Given the description of an element on the screen output the (x, y) to click on. 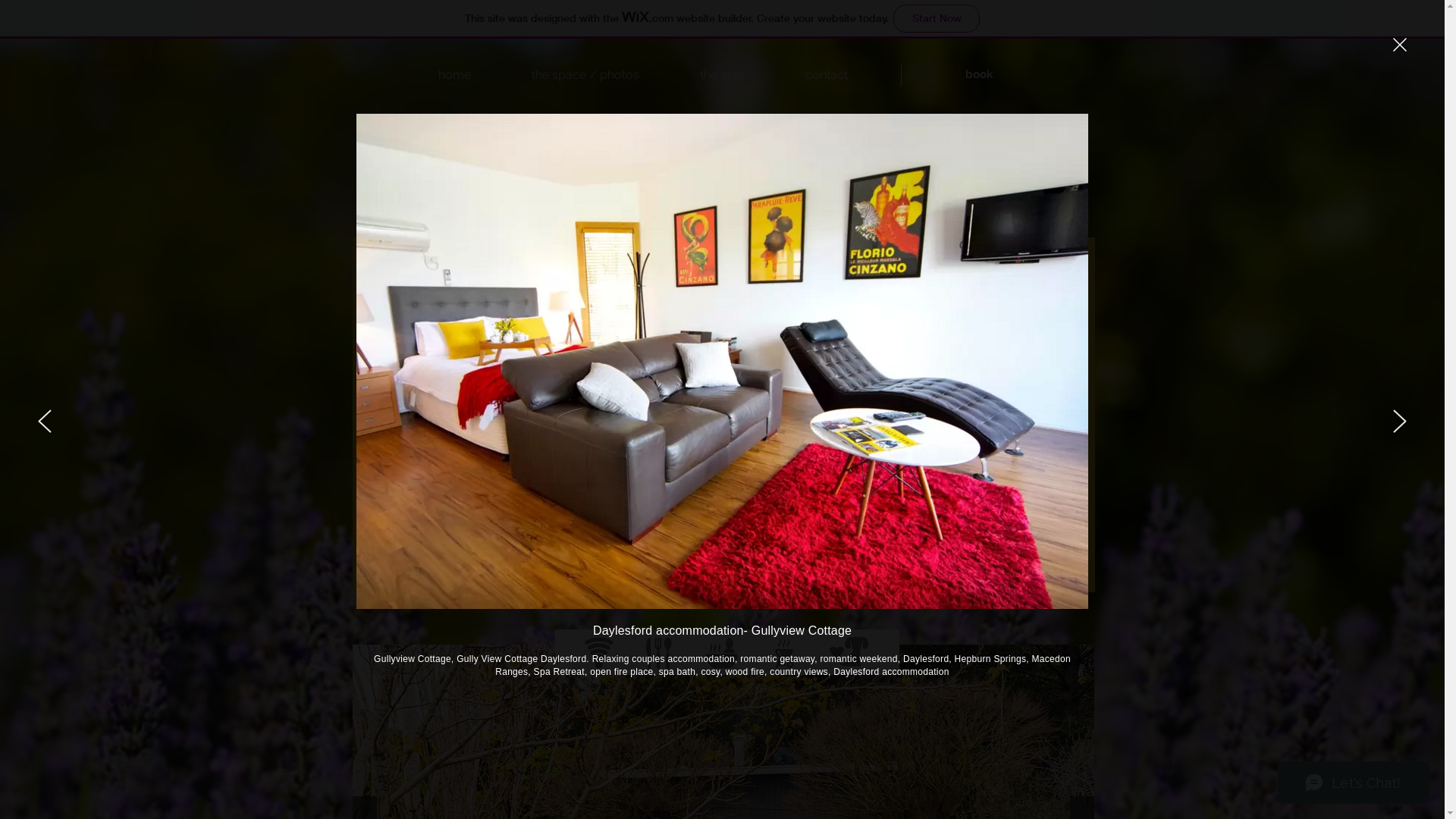
contact Element type: text (807, 73)
the area Element type: text (703, 73)
the space / photos Element type: text (566, 73)
book Element type: text (977, 73)
home Element type: text (434, 73)
